Given the description of an element on the screen output the (x, y) to click on. 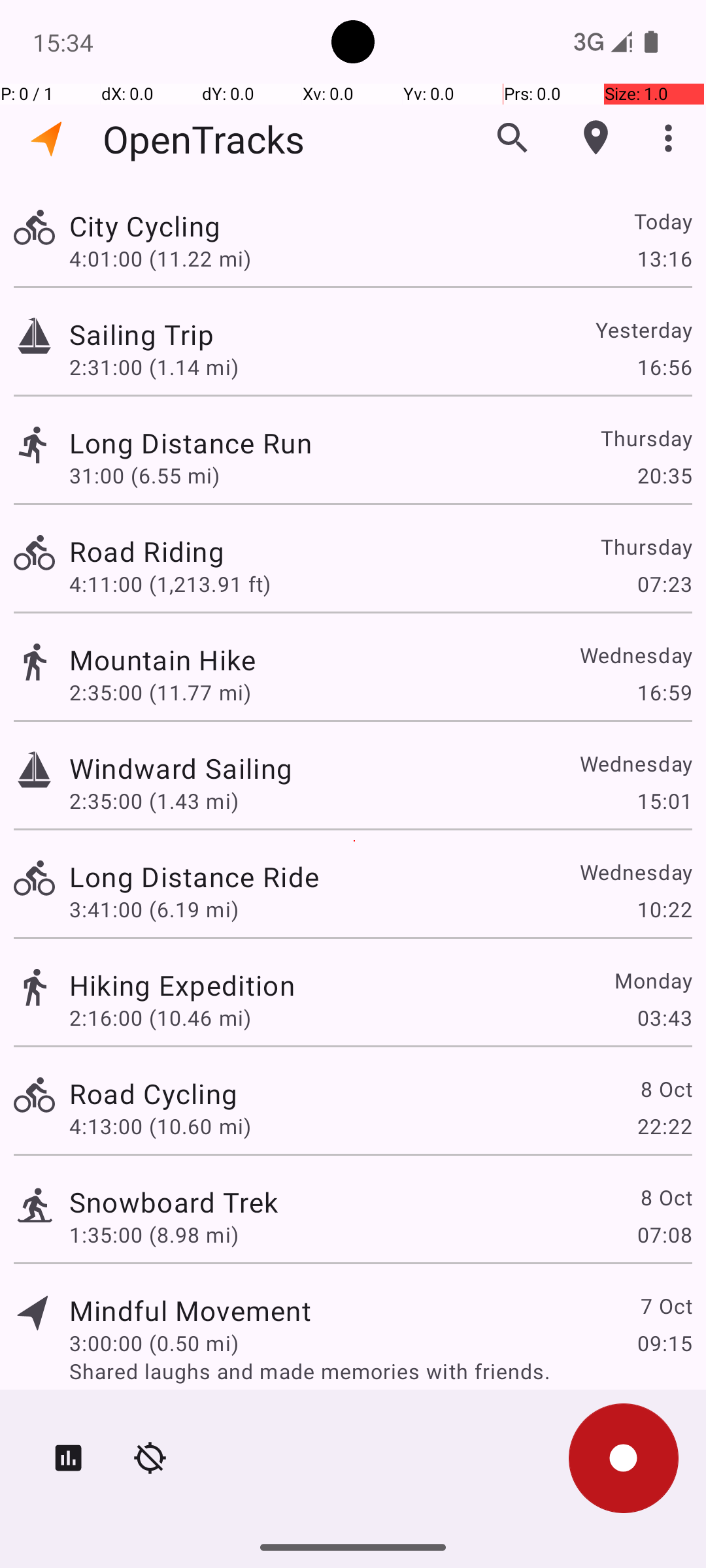
City Cycling Element type: android.widget.TextView (144, 225)
4:01:00 (11.22 mi) Element type: android.widget.TextView (159, 258)
13:16 Element type: android.widget.TextView (664, 258)
Sailing Trip Element type: android.widget.TextView (141, 333)
2:31:00 (1.14 mi) Element type: android.widget.TextView (153, 366)
16:56 Element type: android.widget.TextView (664, 366)
Long Distance Run Element type: android.widget.TextView (190, 442)
31:00 (6.55 mi) Element type: android.widget.TextView (144, 475)
20:35 Element type: android.widget.TextView (664, 475)
Road Riding Element type: android.widget.TextView (146, 550)
4:11:00 (1,213.91 ft) Element type: android.widget.TextView (169, 583)
07:23 Element type: android.widget.TextView (664, 583)
Mountain Hike Element type: android.widget.TextView (162, 659)
2:35:00 (11.77 mi) Element type: android.widget.TextView (159, 692)
16:59 Element type: android.widget.TextView (664, 692)
Windward Sailing Element type: android.widget.TextView (180, 767)
2:35:00 (1.43 mi) Element type: android.widget.TextView (153, 800)
15:01 Element type: android.widget.TextView (664, 800)
Long Distance Ride Element type: android.widget.TextView (193, 876)
3:41:00 (6.19 mi) Element type: android.widget.TextView (153, 909)
10:22 Element type: android.widget.TextView (664, 909)
Hiking Expedition Element type: android.widget.TextView (181, 984)
2:16:00 (10.46 mi) Element type: android.widget.TextView (159, 1017)
03:43 Element type: android.widget.TextView (664, 1017)
Road Cycling Element type: android.widget.TextView (152, 1092)
4:13:00 (10.60 mi) Element type: android.widget.TextView (159, 1125)
22:22 Element type: android.widget.TextView (664, 1125)
Snowboard Trek Element type: android.widget.TextView (173, 1201)
1:35:00 (8.98 mi) Element type: android.widget.TextView (153, 1234)
07:08 Element type: android.widget.TextView (664, 1234)
Mindful Movement Element type: android.widget.TextView (189, 1309)
3:00:00 (0.50 mi) Element type: android.widget.TextView (153, 1342)
09:15 Element type: android.widget.TextView (664, 1342)
Shared laughs and made memories with friends. Element type: android.widget.TextView (380, 1370)
